Given the description of an element on the screen output the (x, y) to click on. 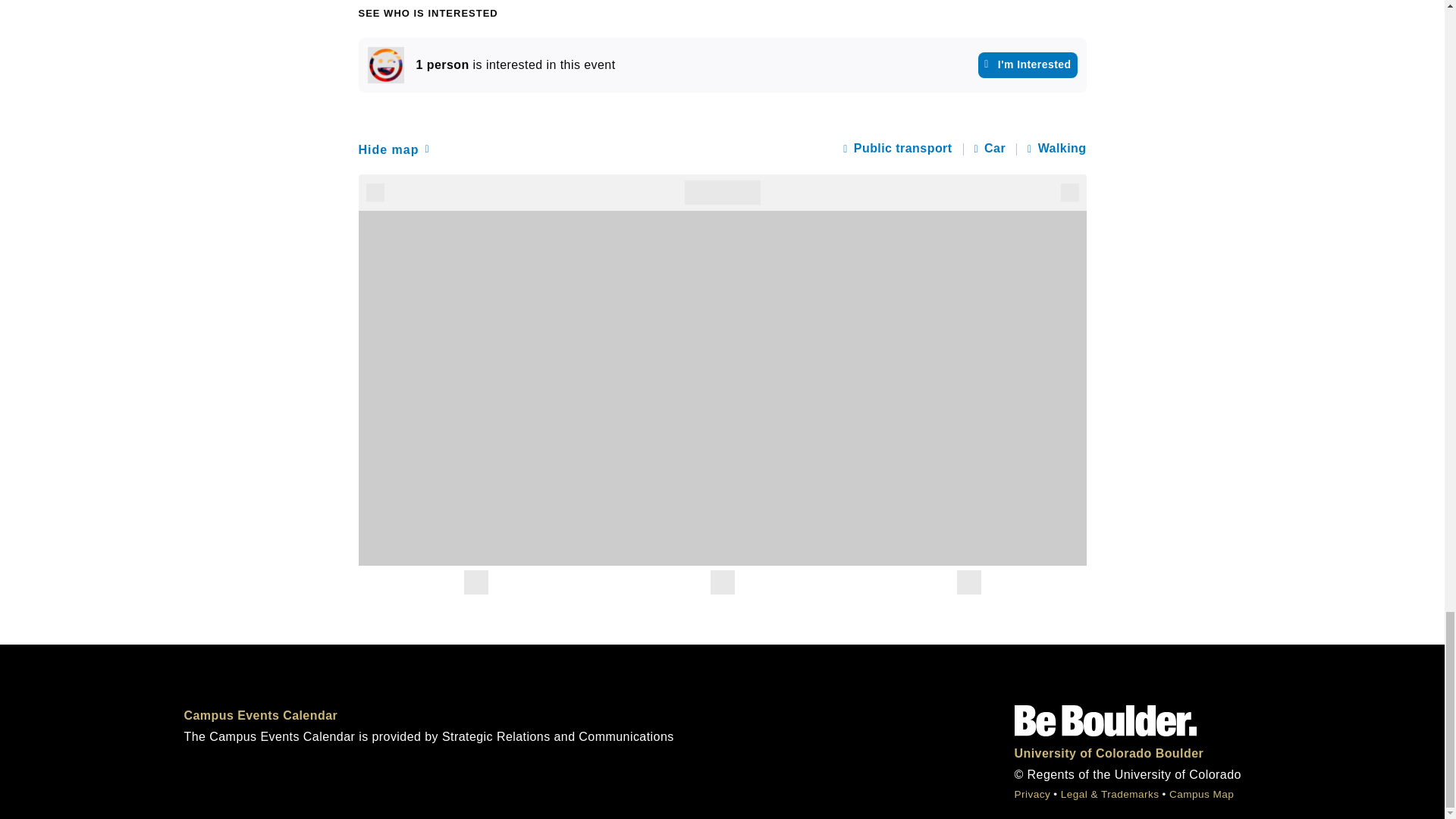
Madeleine Chalifoux-Gene (384, 64)
